Given the description of an element on the screen output the (x, y) to click on. 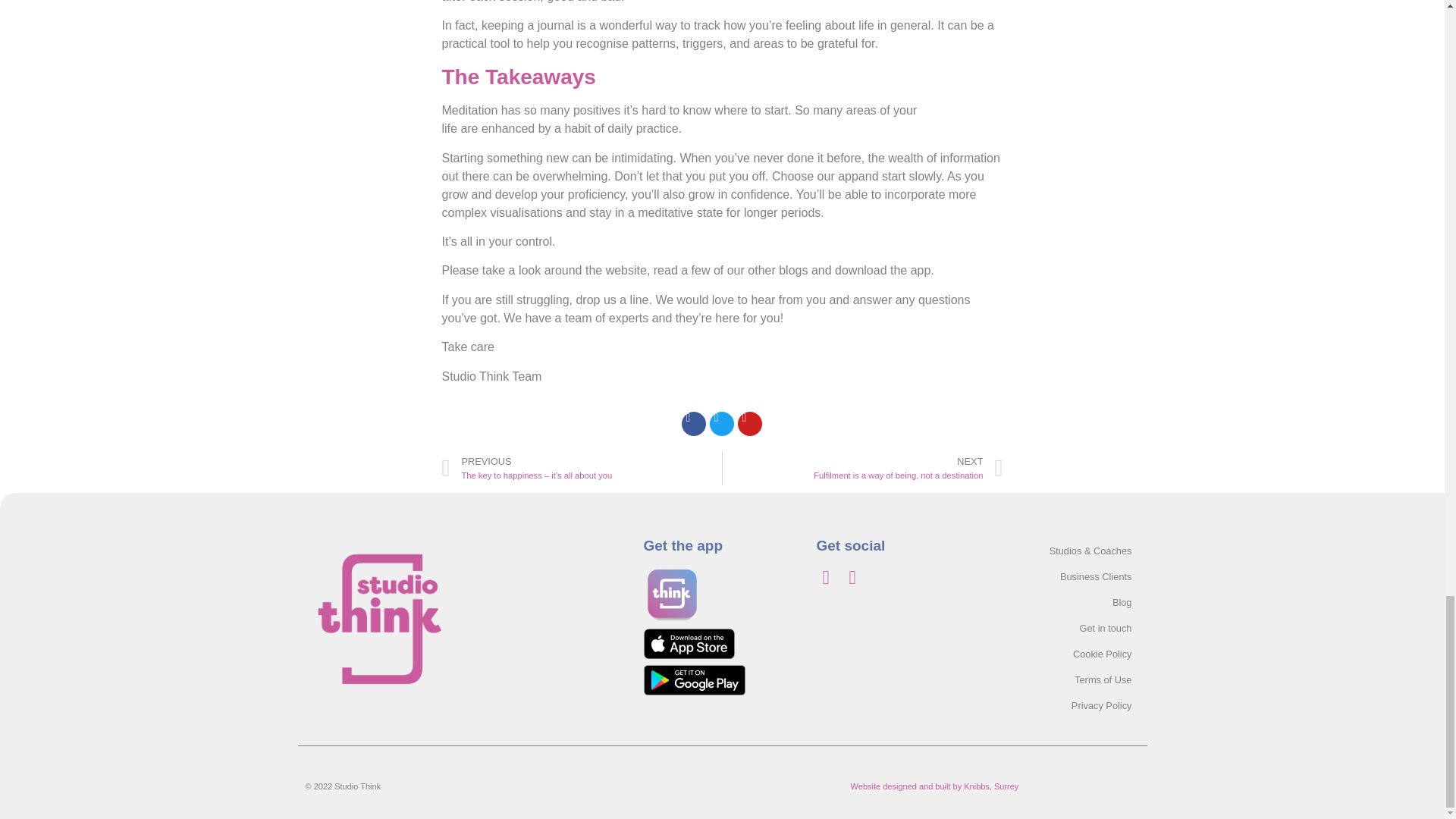
Cookie Policy (1067, 654)
app-link (688, 643)
Get in touch (1067, 628)
google-play-badge (693, 680)
Privacy Policy (862, 468)
Terms of Use (1067, 705)
Business Clients (1067, 679)
Blog (1067, 576)
Website designed and built by Knibbs, Surrey (1067, 602)
